Given the description of an element on the screen output the (x, y) to click on. 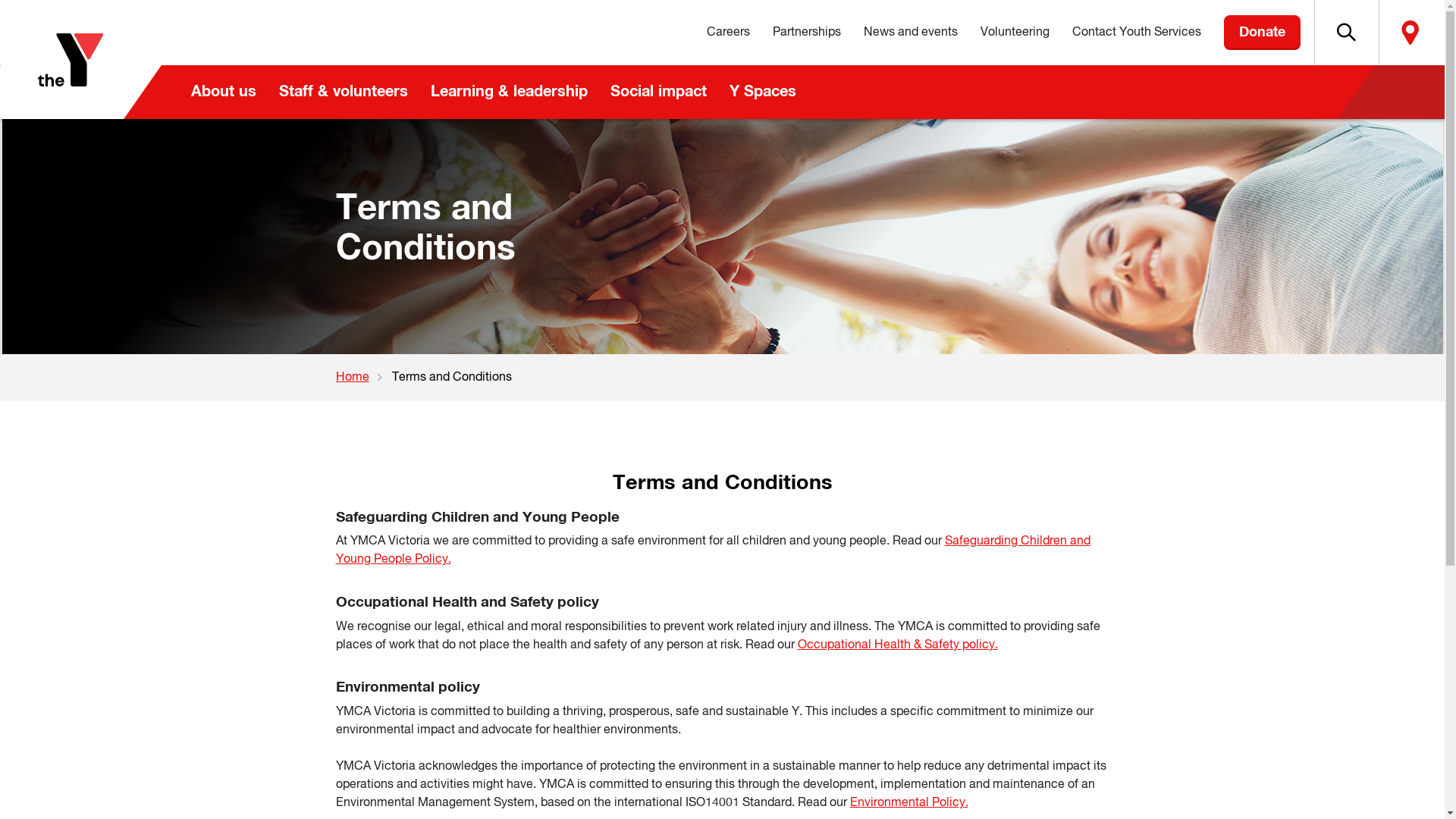
Y Spaces Element type: text (761, 92)
Environmental Policy. Element type: text (908, 803)
Volunteering Element type: text (1014, 32)
Careers Element type: text (727, 32)
News and events Element type: text (910, 32)
Social impact Element type: text (658, 92)
Staff & volunteers Element type: text (342, 92)
Donate Element type: text (1261, 32)
Safeguarding Children and Young People Policy. Element type: text (712, 550)
About us Element type: text (222, 92)
Learning & leadership Element type: text (508, 92)
Home Element type: text (363, 377)
Locate Element type: text (1410, 32)
Contact Youth Services Element type: text (1135, 32)
Occupational Health & Safety policy. Element type: text (897, 645)
Partnerships Element type: text (806, 32)
